Given the description of an element on the screen output the (x, y) to click on. 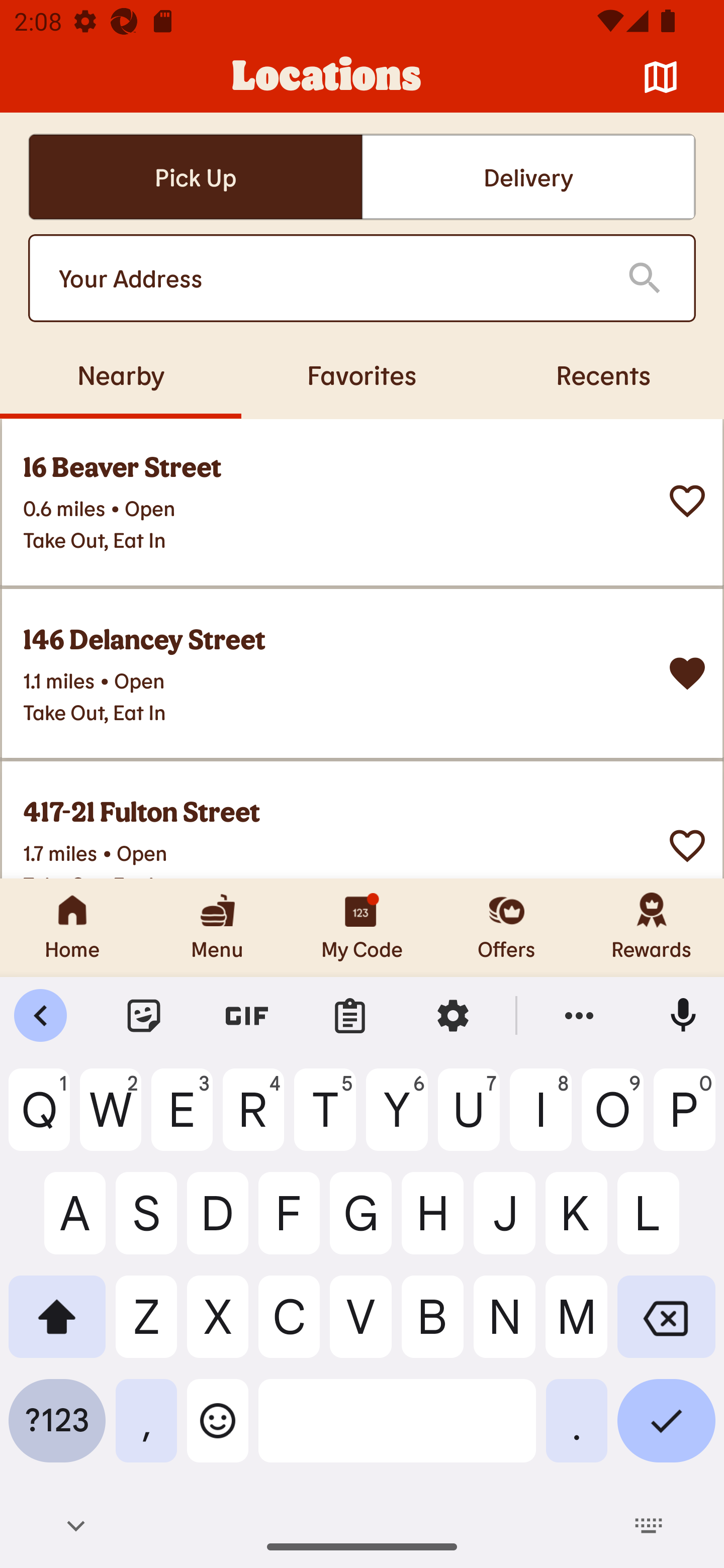
Map 󰦂 (660, 77)
Locations (326, 77)
Pick UpSelected Pick UpSelected Pick Up (195, 176)
Delivery Delivery Delivery (528, 176)
Your Address (327, 277)
Nearby (120, 374)
Favorites (361, 374)
Recents (603, 374)
Set this restaurant as a favorite  (687, 500)
Remove from Favorites?  (687, 673)
Set this restaurant as a favorite  (687, 844)
Home (72, 927)
Menu (216, 927)
My Code (361, 927)
Offers (506, 927)
Rewards (651, 927)
